Given the description of an element on the screen output the (x, y) to click on. 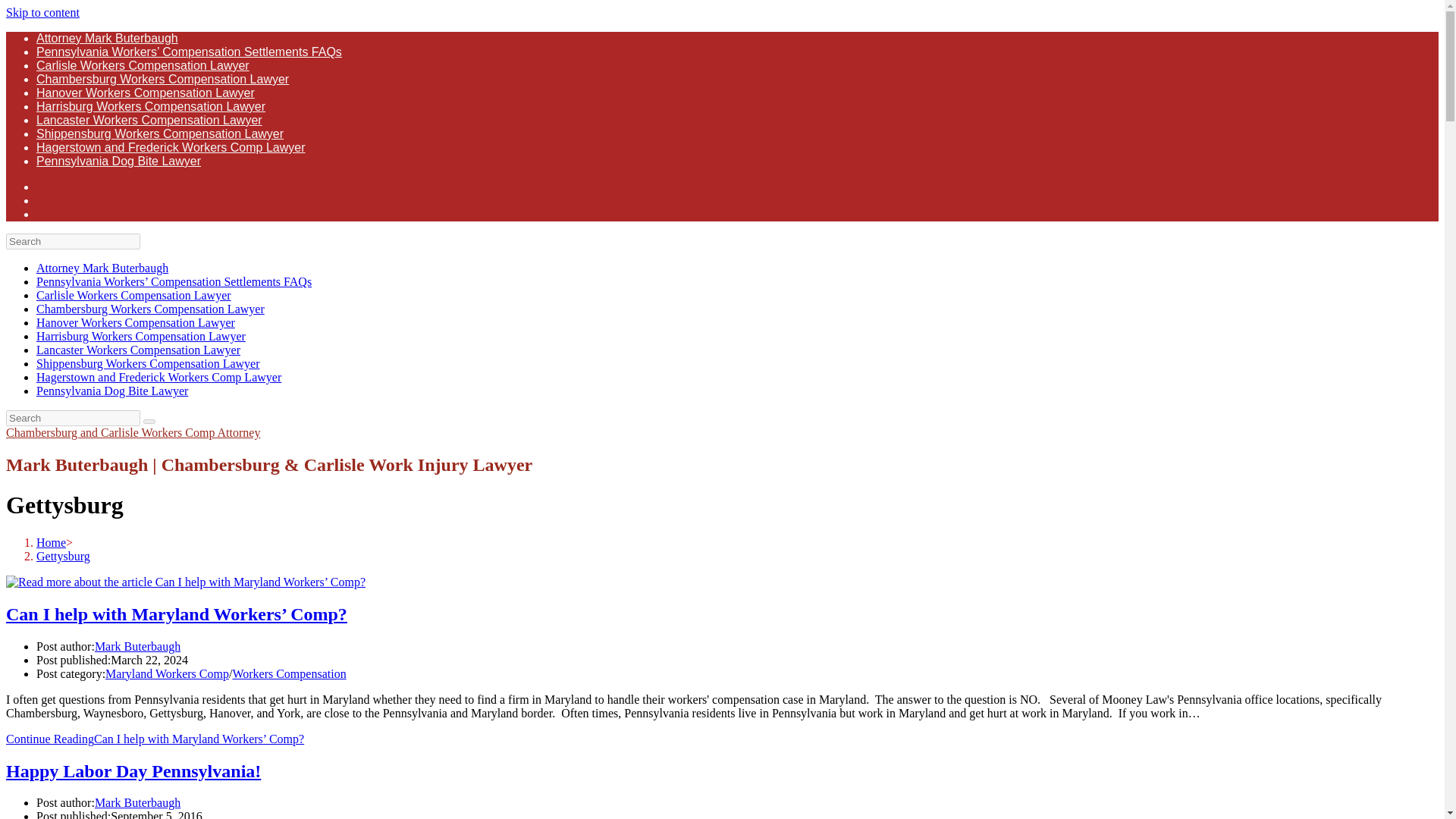
Attorney Mark Buterbaugh (106, 38)
Mark Buterbaugh (137, 802)
Pennsylvania Dog Bite Lawyer (111, 390)
Skip to content (42, 11)
Lancaster Workers Compensation Lawyer (149, 119)
Shippensburg Workers Compensation Lawyer (159, 133)
Chambersburg Workers Compensation Lawyer (162, 78)
Chambersburg and Carlisle Workers Comp Attorney (132, 431)
Happy Labor Day Pennsylvania! (132, 771)
Hagerstown and Frederick Workers Comp Lawyer (158, 377)
Shippensburg Workers Compensation Lawyer (148, 363)
Carlisle Workers Compensation Lawyer (133, 295)
Attorney Mark Buterbaugh (102, 267)
Chambersburg Workers Compensation Lawyer (150, 308)
Hanover Workers Compensation Lawyer (145, 92)
